Given the description of an element on the screen output the (x, y) to click on. 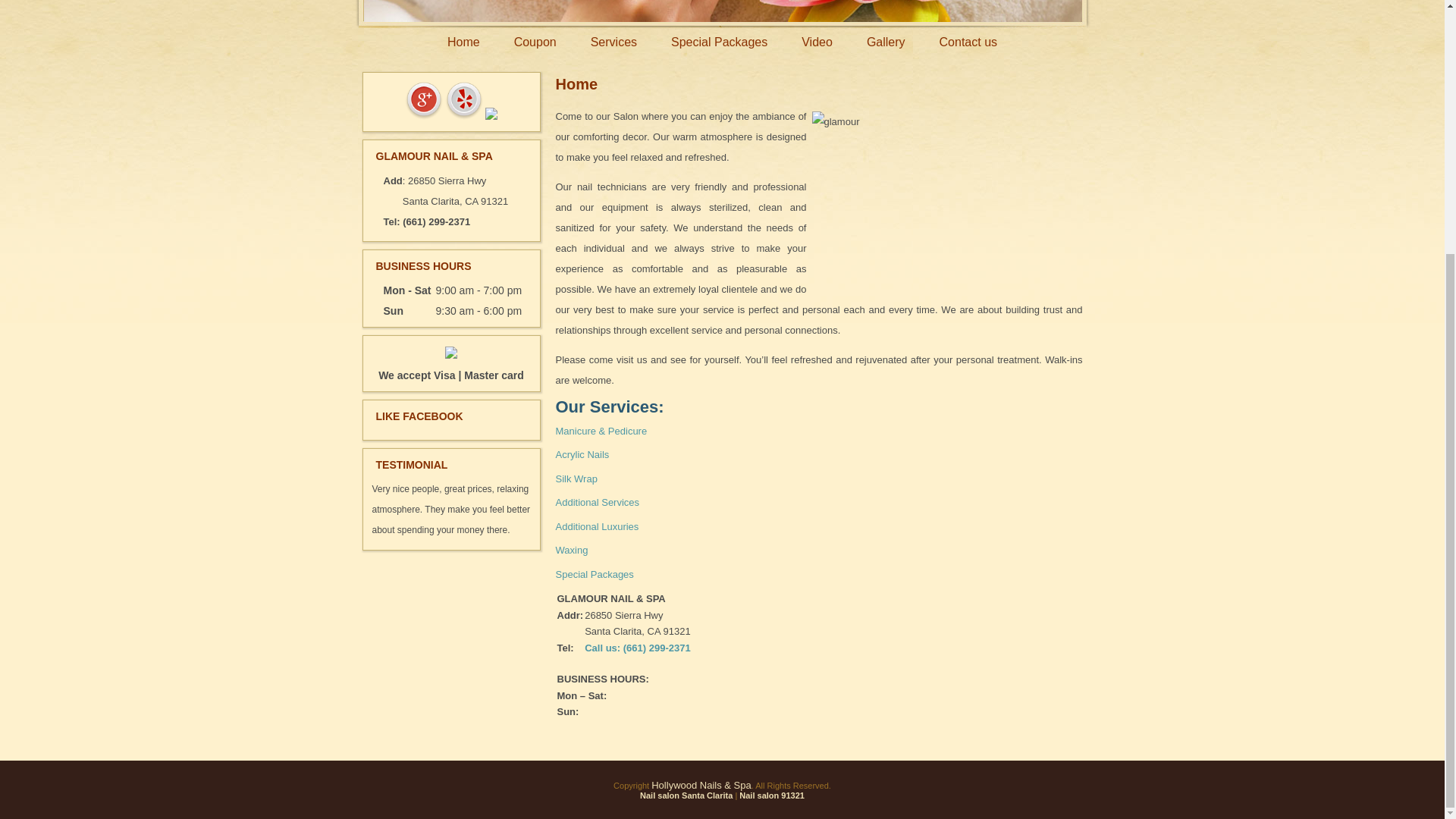
Nail salon 91321 (772, 795)
Additional Services (596, 501)
1 (722, 11)
Services (613, 42)
Special Packages (719, 42)
Video (816, 42)
Contact us (968, 42)
Special Packages (719, 42)
Waxing (571, 550)
Nail salon 91321 (772, 795)
